Given the description of an element on the screen output the (x, y) to click on. 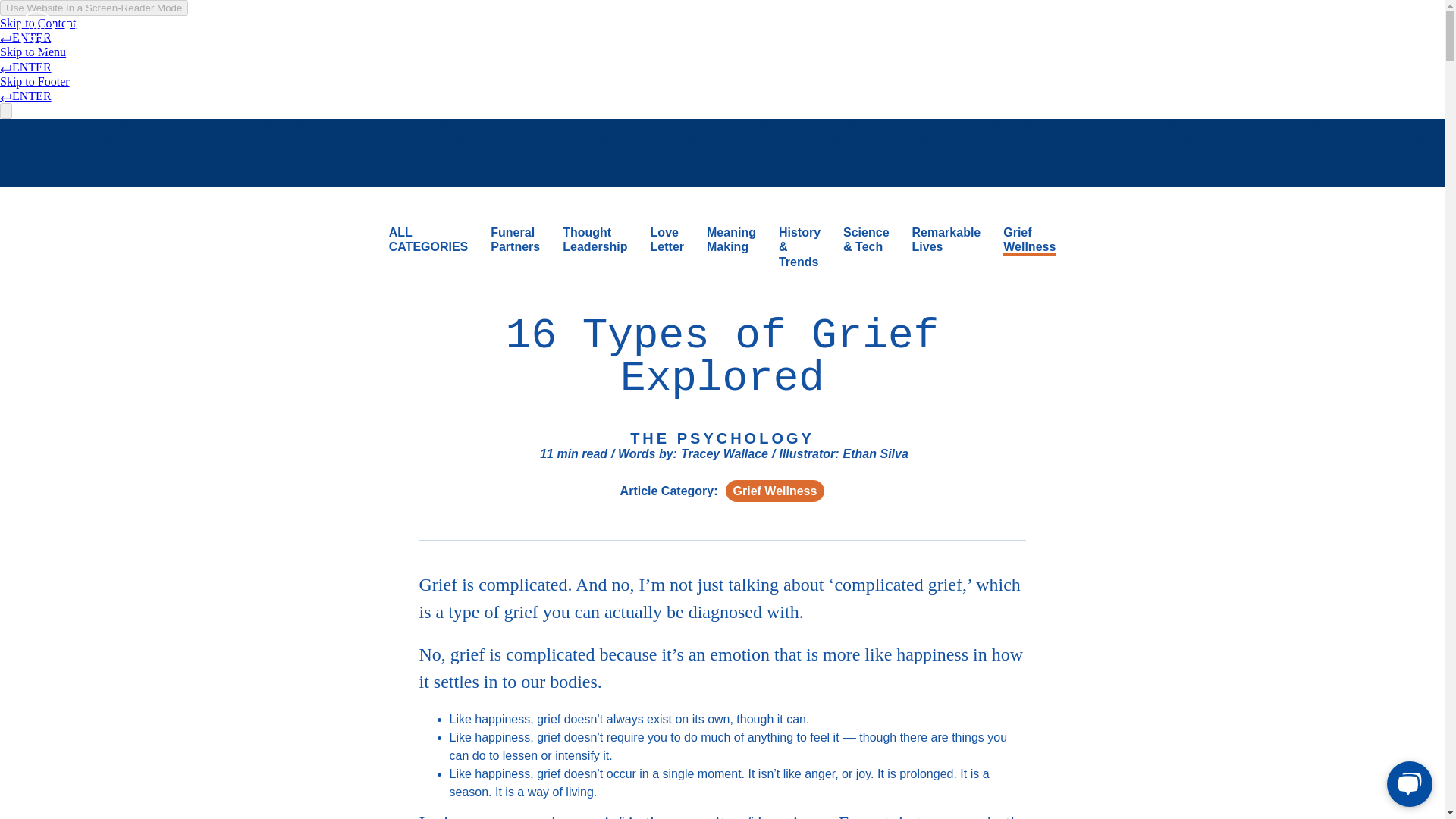
Meaning Making (730, 240)
PETS (906, 26)
LOVED ONES (825, 26)
Thought Leadership (594, 240)
REVIEWS (1099, 26)
HOW IT WORKS (996, 26)
Funeral Partners (515, 240)
GET STARTED (1372, 28)
Remarkable Lives (946, 240)
ALL CATEGORIES (428, 240)
Grief Wellness (1029, 240)
ORDER WELCOME KIT (1222, 26)
Love Letter (667, 240)
